Given the description of an element on the screen output the (x, y) to click on. 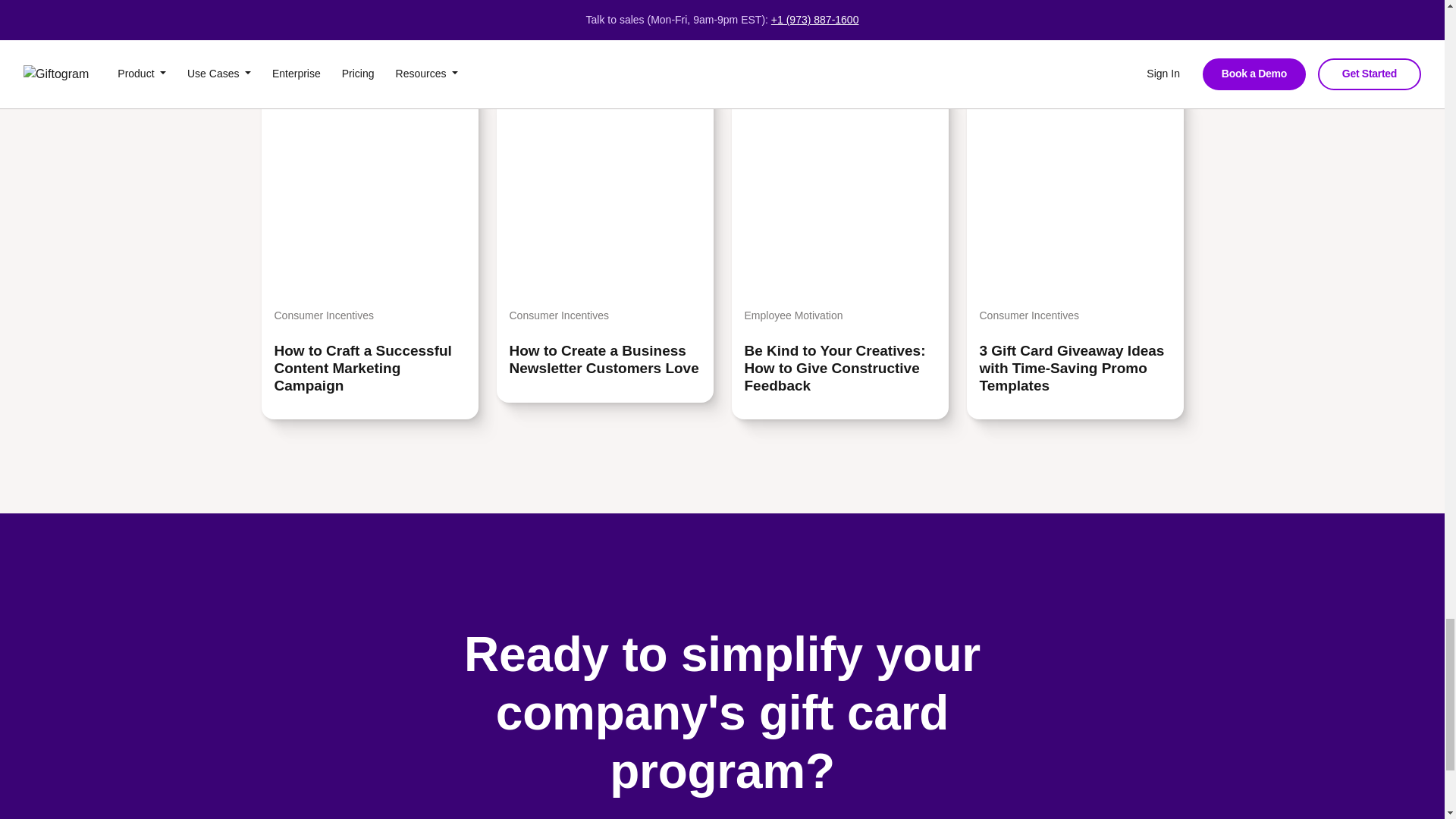
3 Gift Card Giveaway Ideas with Time-Saving Promo Templates (1074, 368)
How to Create a Business Newsletter Customers Love (604, 360)
How to Craft a Successful Content Marketing Campaign (370, 368)
Be Kind to Your Creatives: How to Give Constructive Feedback (840, 368)
